Given the description of an element on the screen output the (x, y) to click on. 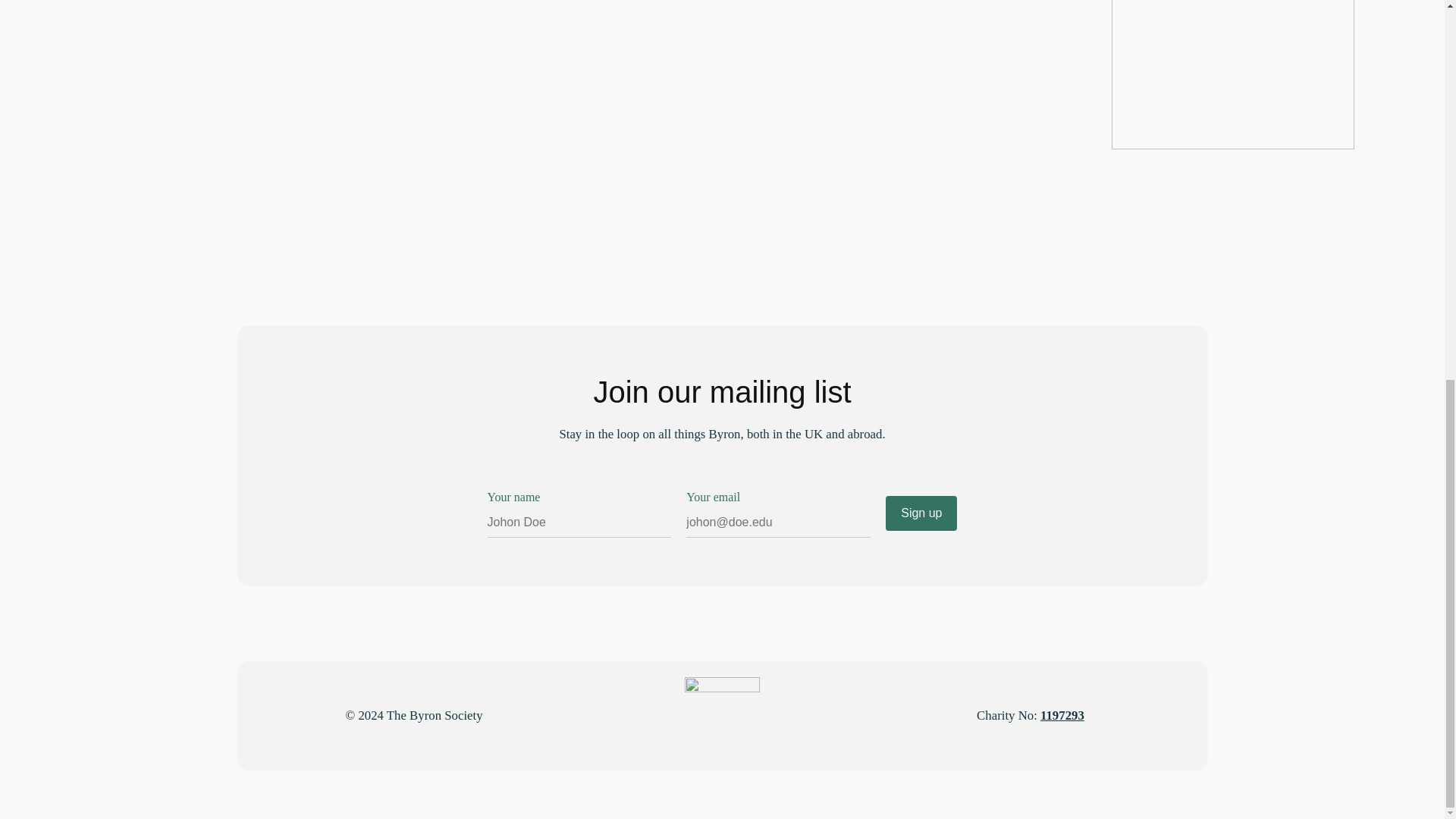
Sign up (920, 513)
Sign up (920, 513)
1197293 (1062, 715)
